Given the description of an element on the screen output the (x, y) to click on. 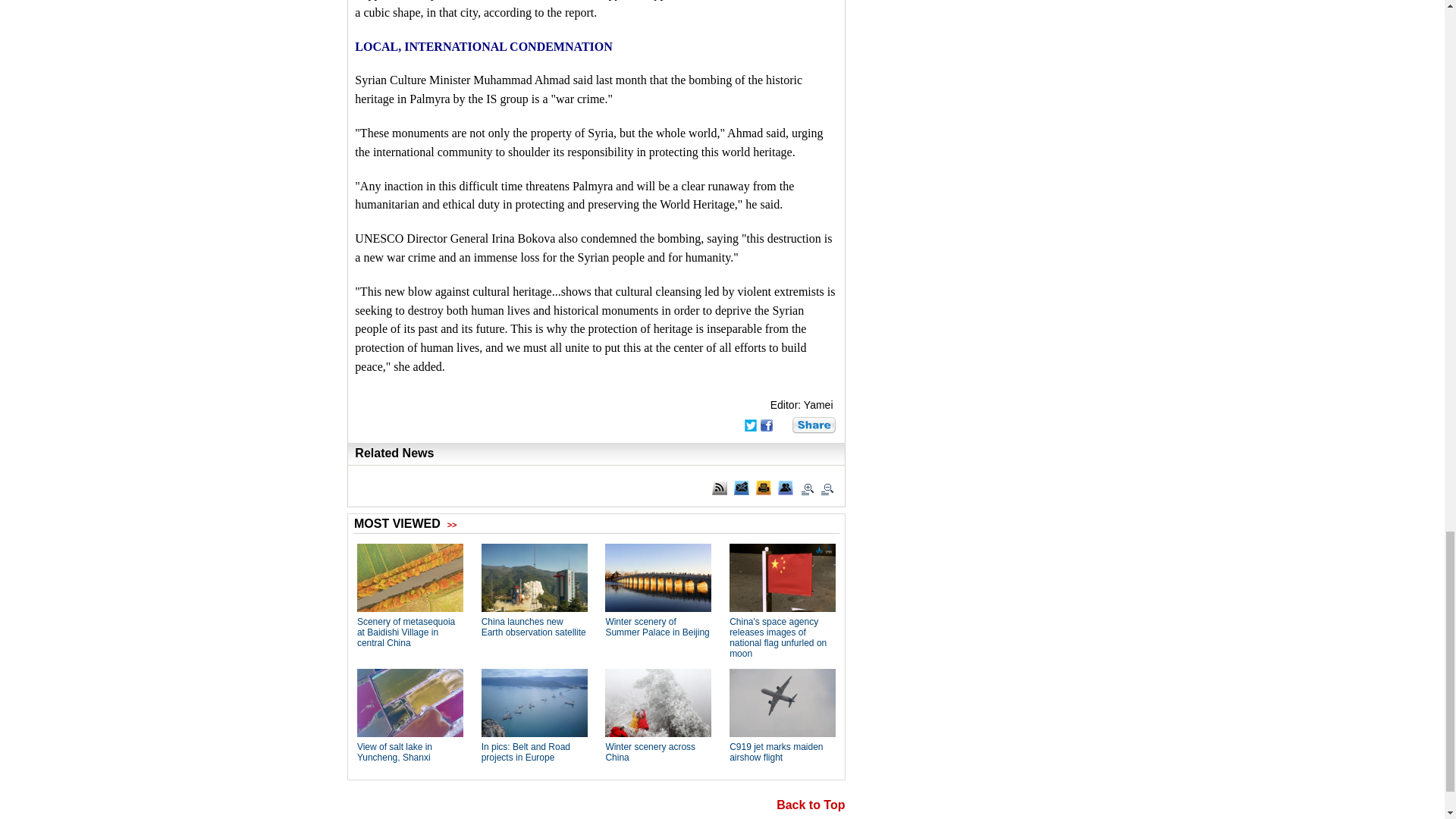
More (813, 425)
